Given the description of an element on the screen output the (x, y) to click on. 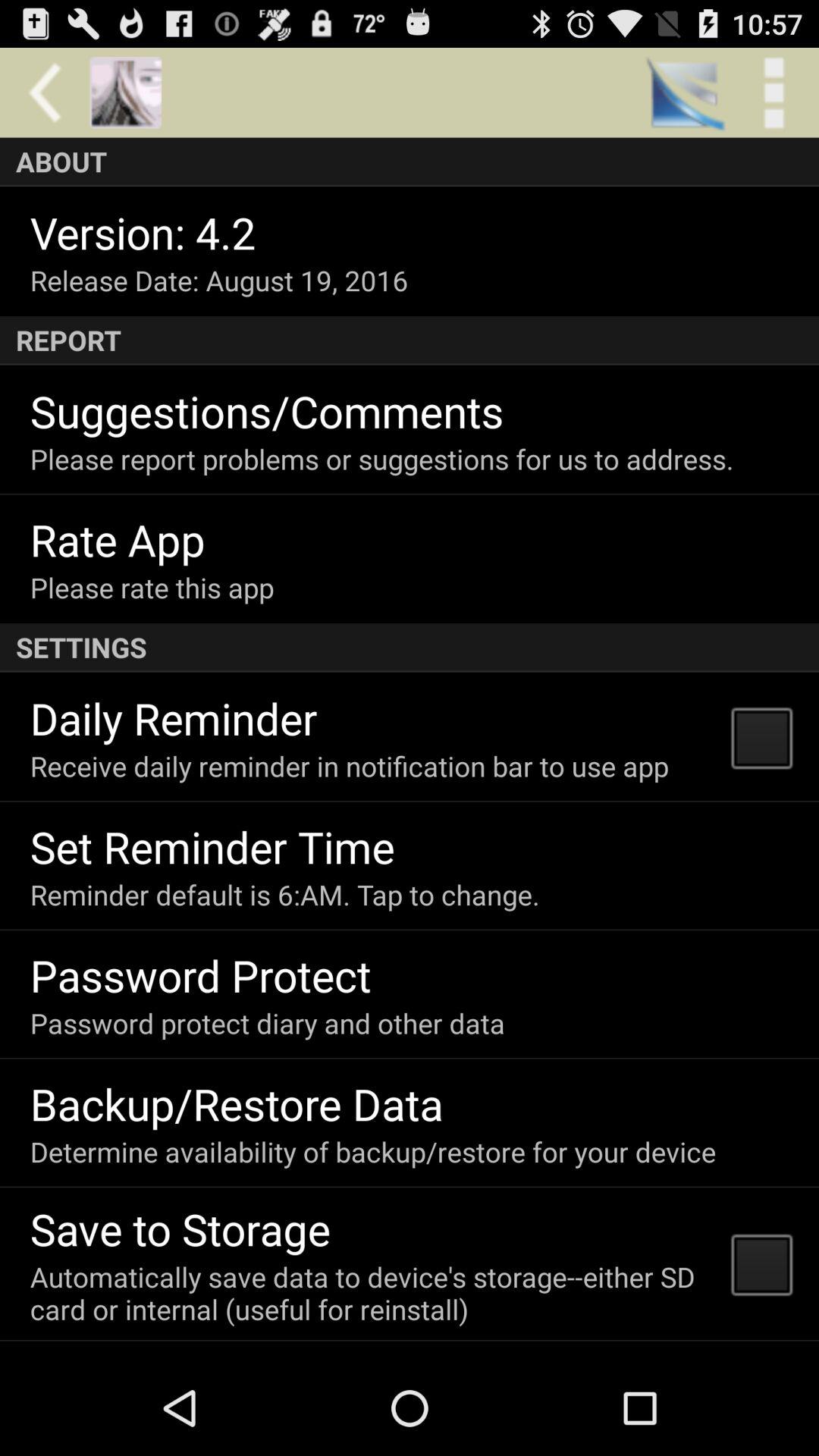
click the settings item (409, 647)
